Given the description of an element on the screen output the (x, y) to click on. 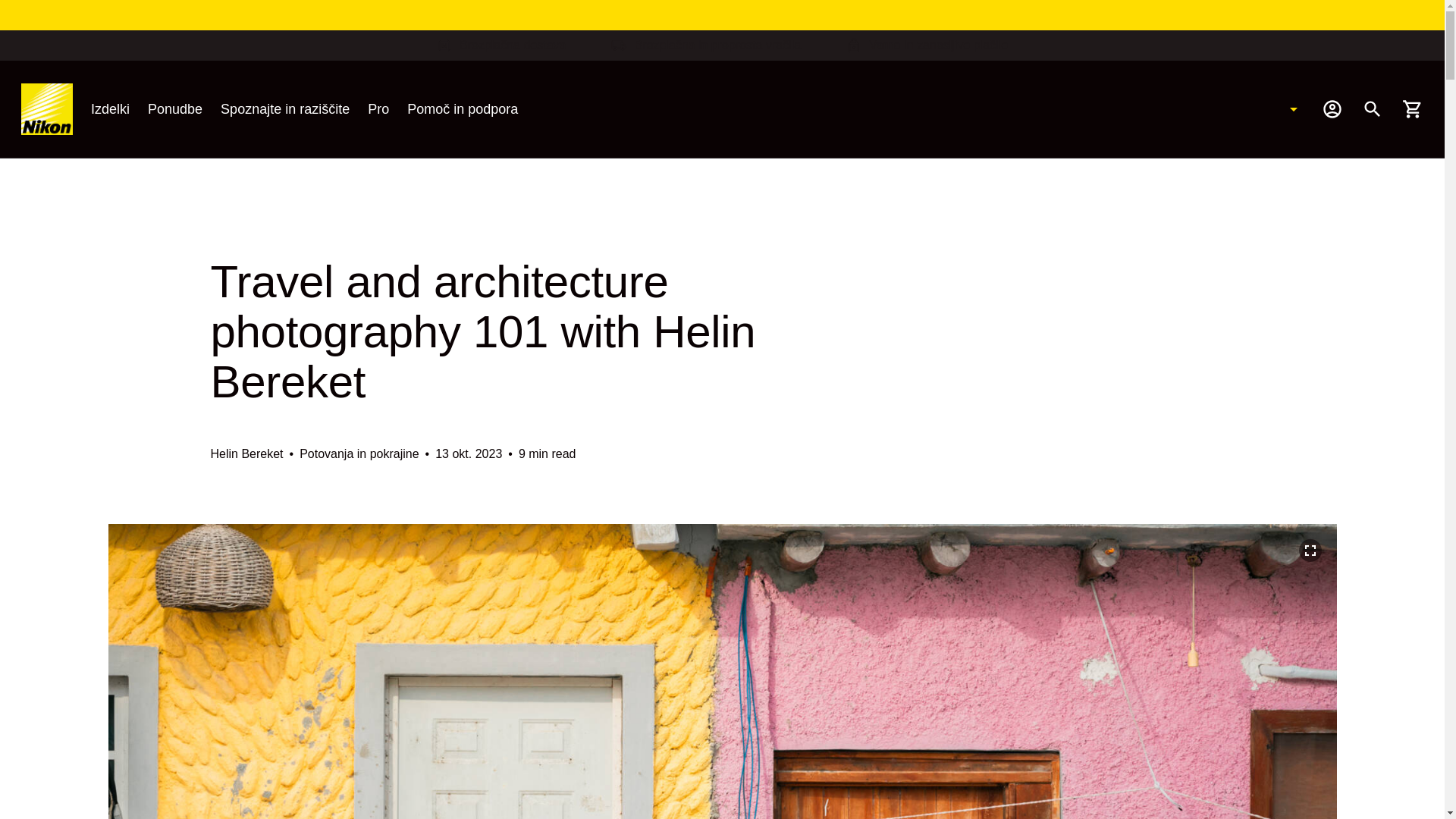
Account (1332, 107)
Basket (1412, 108)
